Given the description of an element on the screen output the (x, y) to click on. 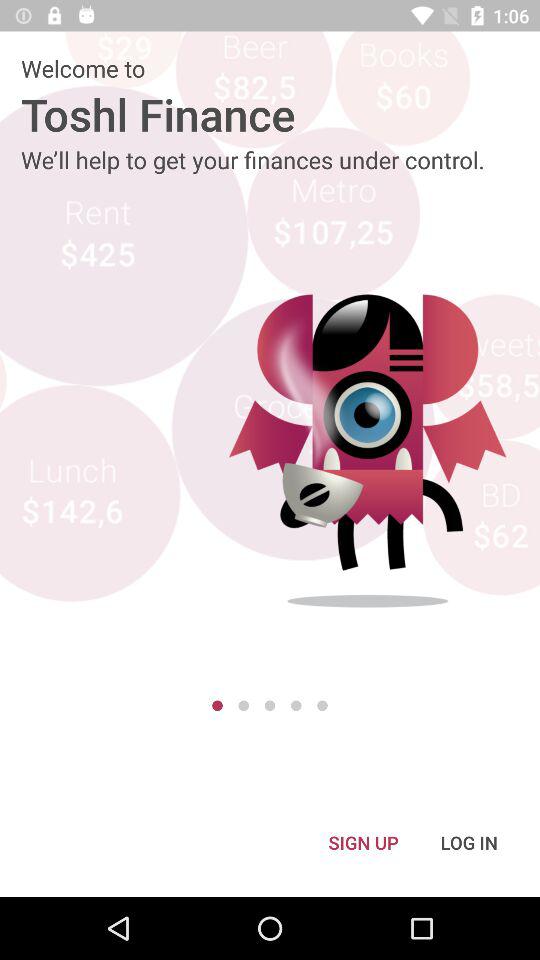
click sign up item (363, 842)
